Given the description of an element on the screen output the (x, y) to click on. 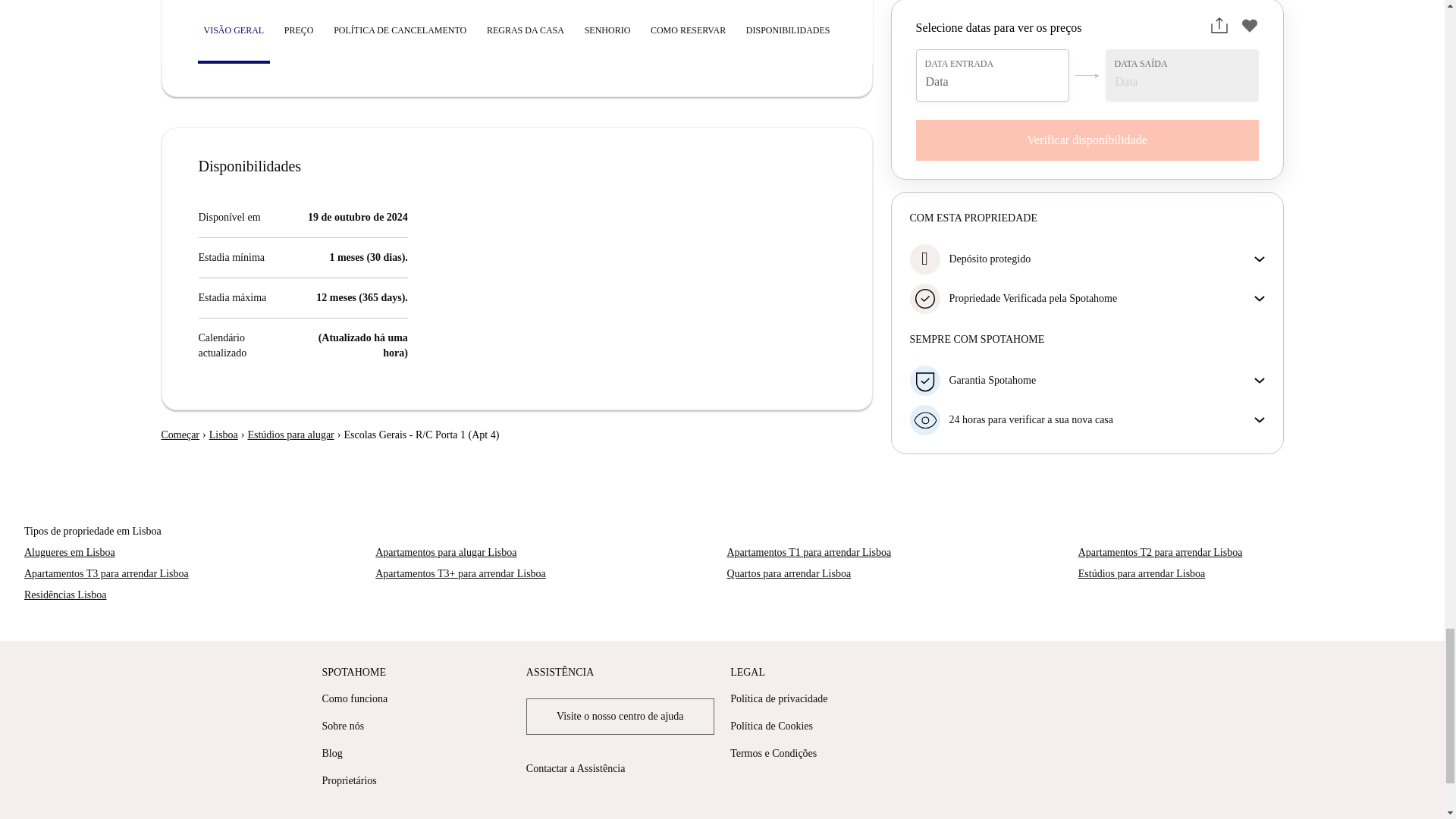
Quartos para arrendar Lisboa (897, 573)
Alugueres em Lisboa (195, 552)
Como funciona (354, 698)
Apartamentos T3 para arrendar Lisboa (195, 573)
Apartamentos para alugar Lisboa (546, 552)
Visite o nosso centro de ajuda (619, 716)
Lisboa (223, 434)
Apartamentos T2 para arrendar Lisboa (1249, 552)
Apartamentos T1 para arrendar Lisboa (897, 552)
Blog (331, 753)
